Given the description of an element on the screen output the (x, y) to click on. 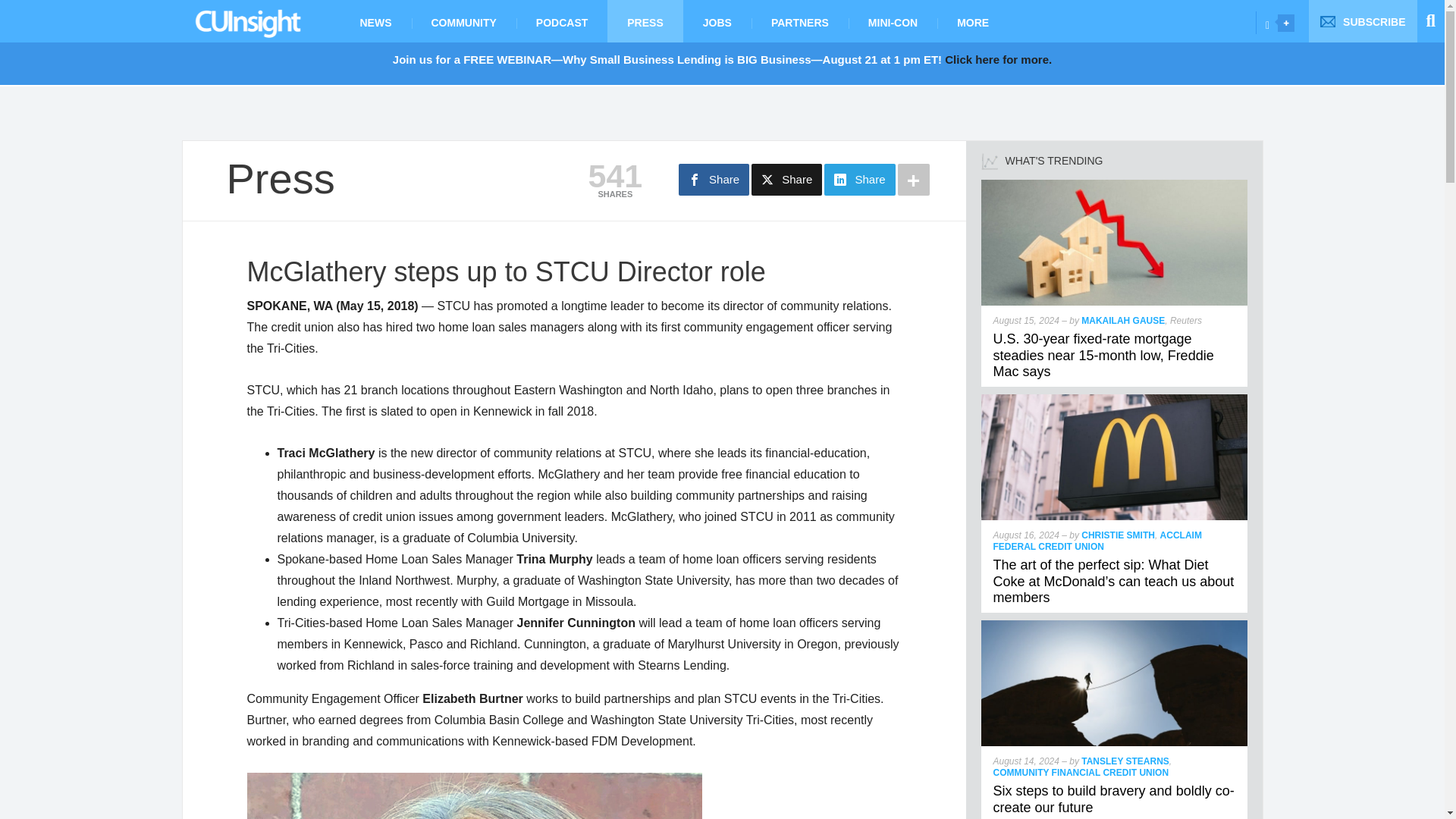
SUBSCRIBE (1362, 21)
Opener (1286, 22)
COMMUNITY (462, 21)
Share (786, 179)
JOBS (716, 21)
Share (713, 179)
PODCAST (561, 21)
PRESS (644, 21)
PARTNERS (799, 21)
